Given the description of an element on the screen output the (x, y) to click on. 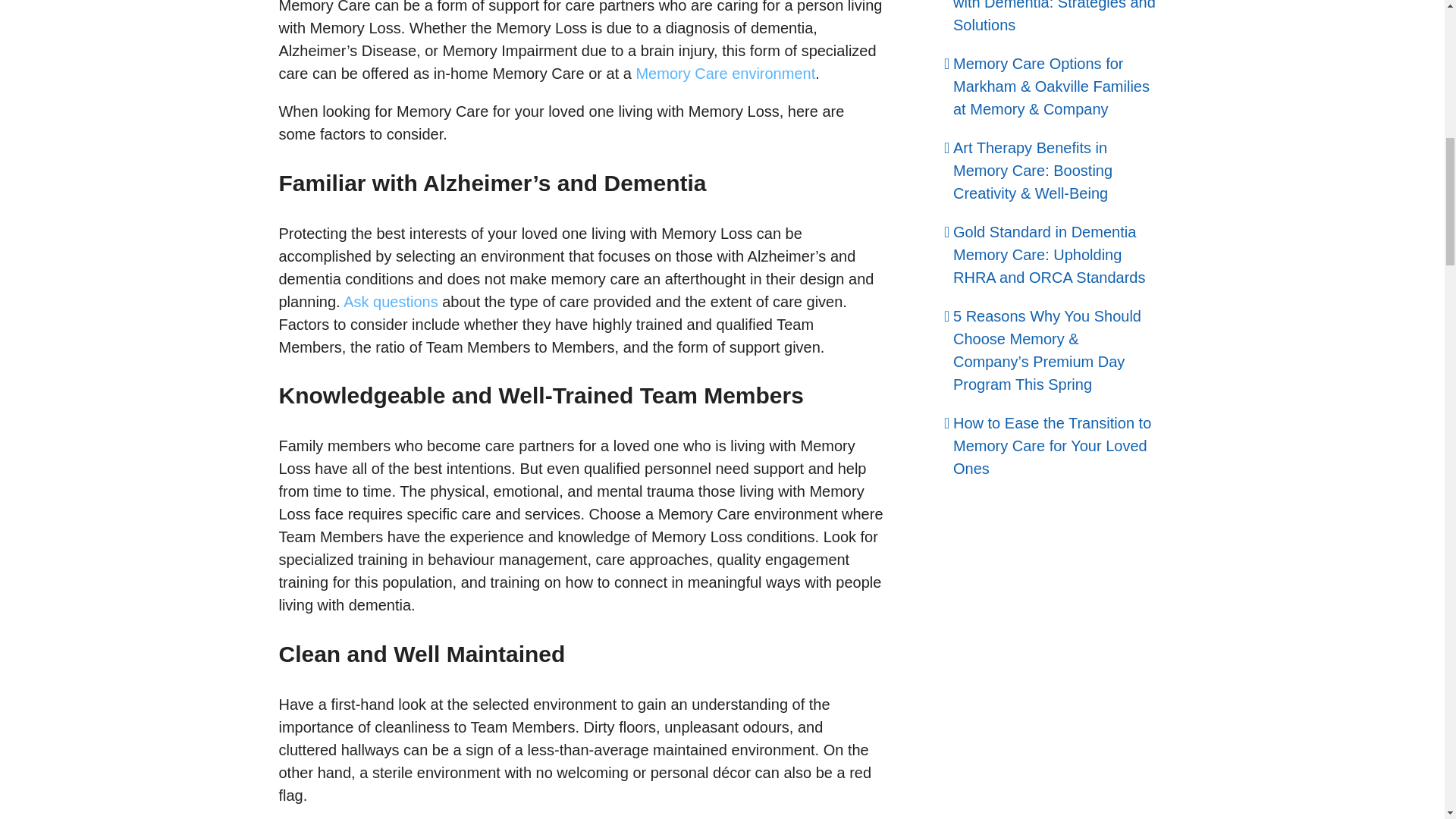
Memory Care environment (724, 73)
